Given the description of an element on the screen output the (x, y) to click on. 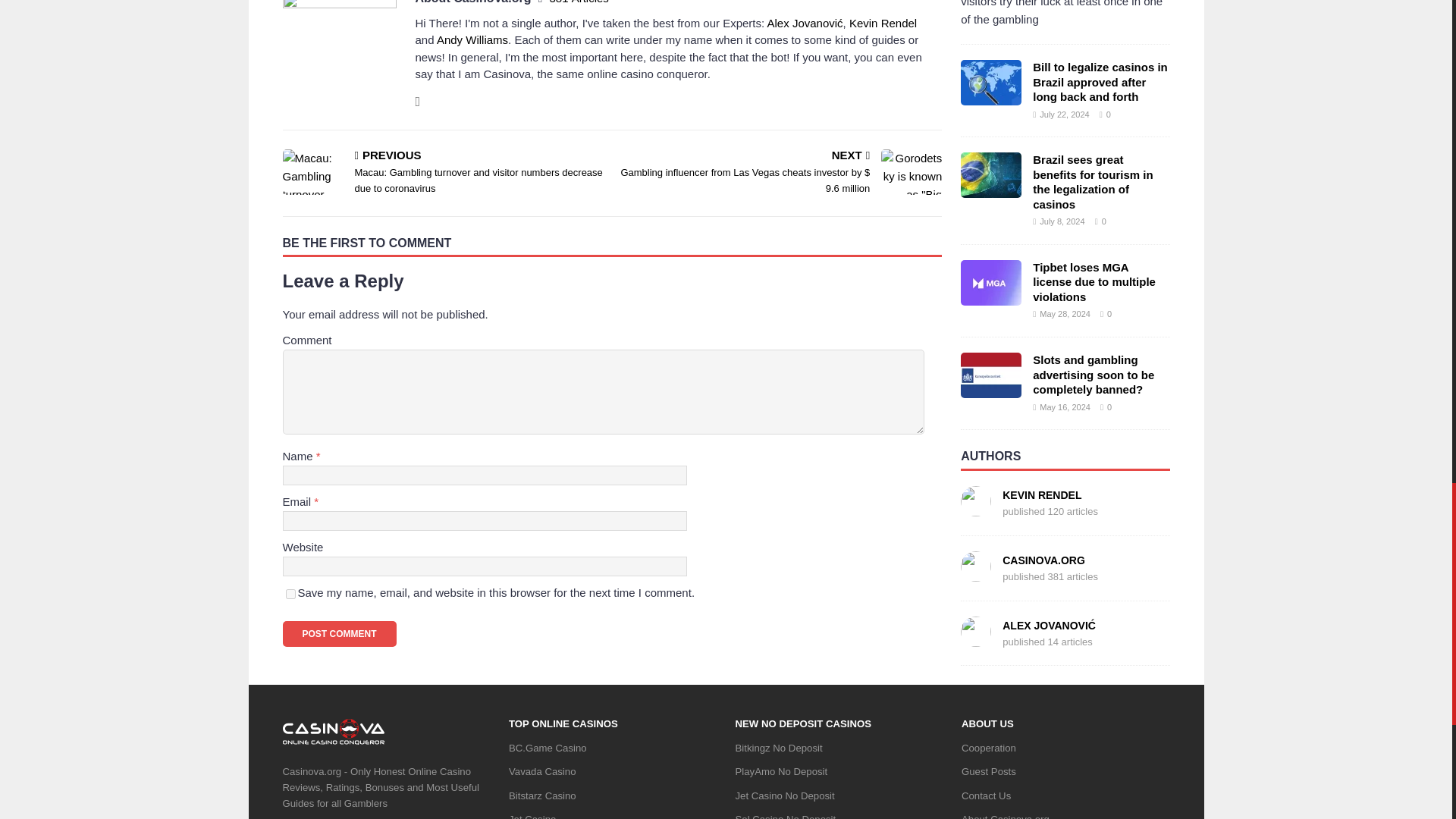
More articles written by CasinoVa.org' (578, 2)
Post Comment (339, 633)
yes (290, 593)
